Given the description of an element on the screen output the (x, y) to click on. 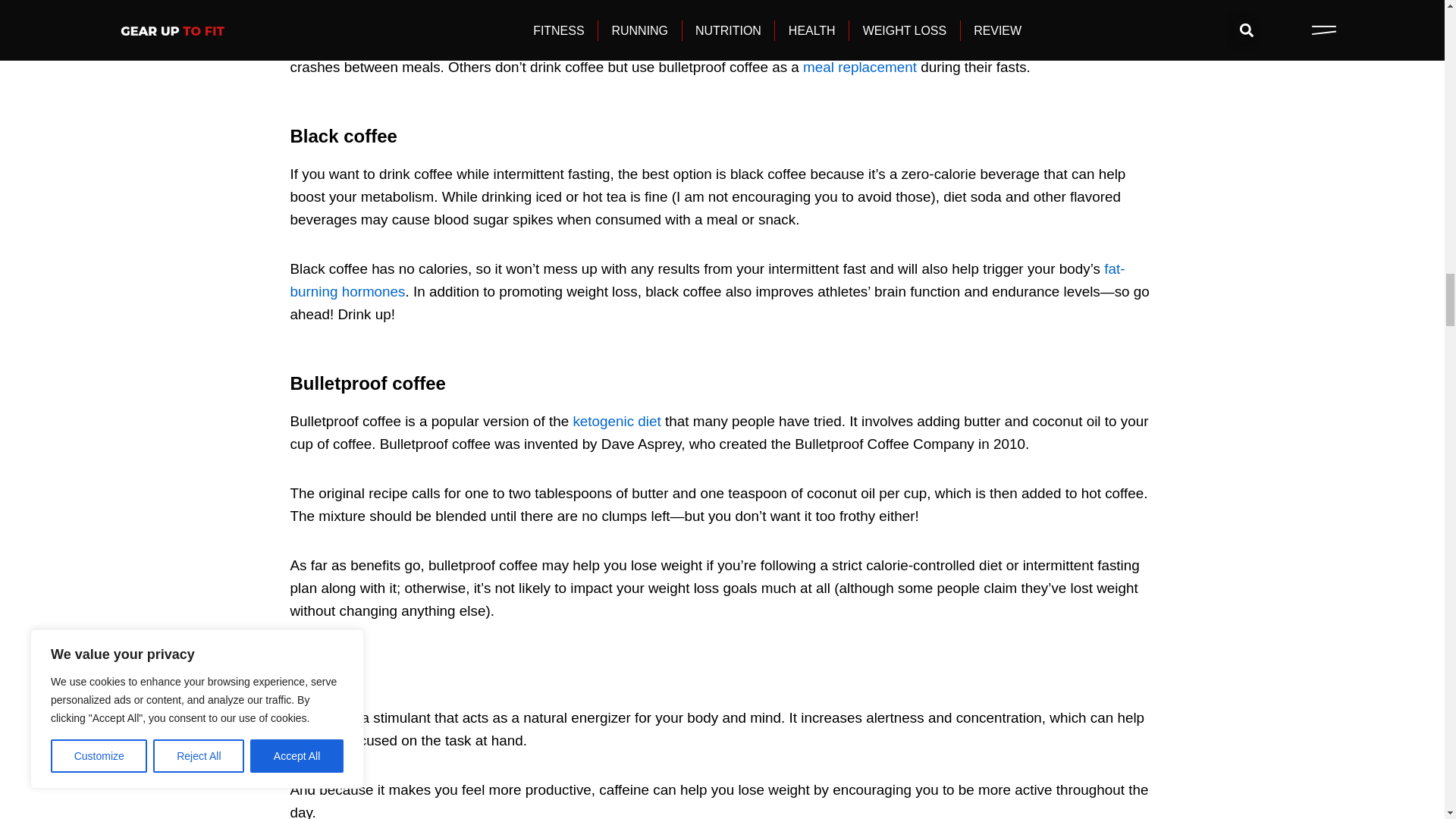
How To Lose Weight By Replacing Meals With Smoothies (860, 66)
fat-burning hormones (706, 280)
Ketogenic diet and diabetes (616, 421)
